Given the description of an element on the screen output the (x, y) to click on. 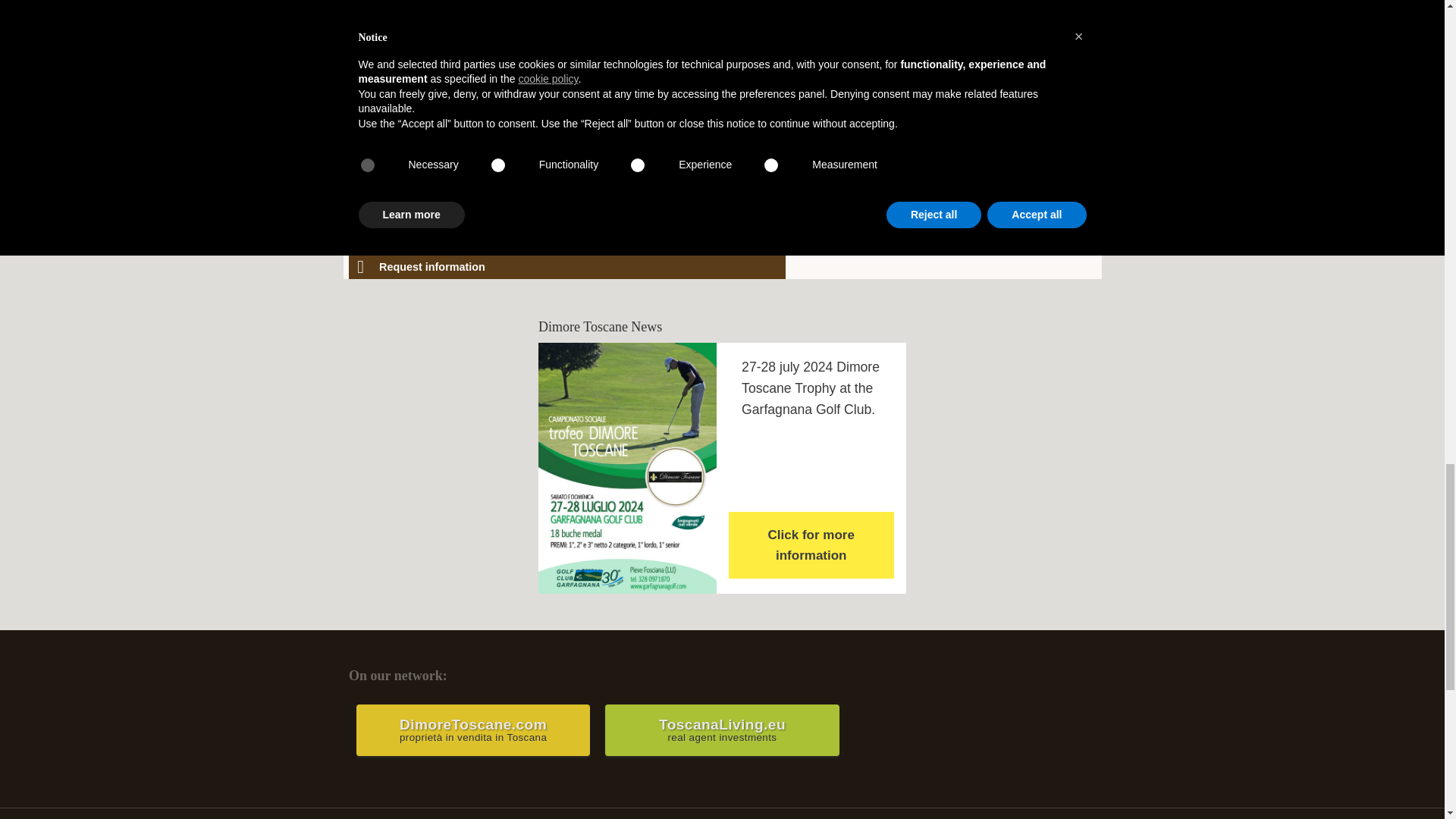
Request information (721, 729)
